Given the description of an element on the screen output the (x, y) to click on. 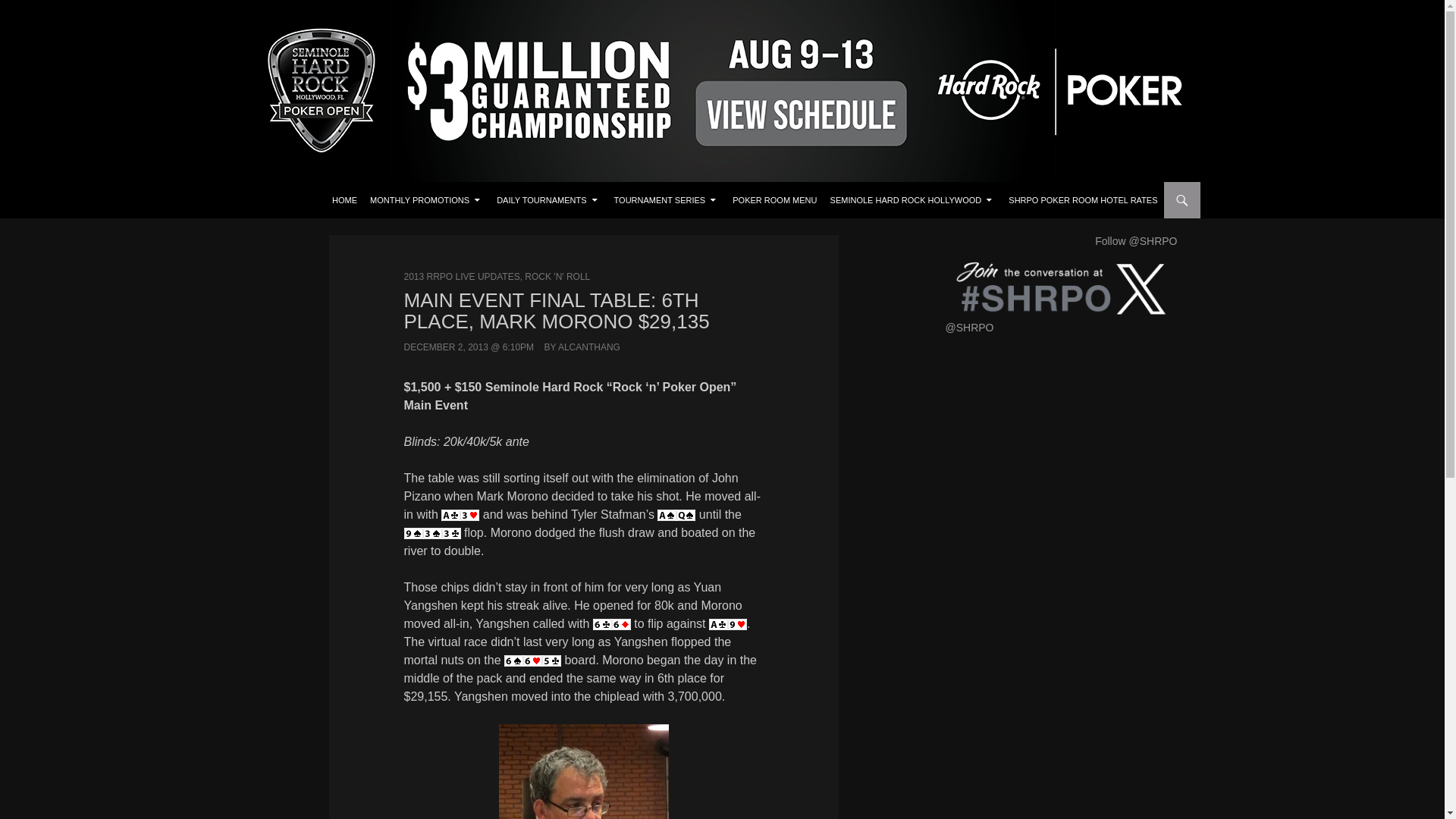
HOME (344, 199)
TOURNAMENT SERIES (666, 199)
POKER ROOM MENU (774, 199)
Seminole Hard Rock Hollywood Poker (389, 199)
SEMINOLE HARD ROCK HOLLYWOOD (913, 199)
SHRPO POKER ROOM HOTEL RATES (1082, 199)
ALCANTHANG (588, 347)
2013 RRPO LIVE UPDATES (461, 276)
DAILY TOURNAMENTS (548, 199)
ROCK 'N' ROLL (556, 276)
MONTHLY PROMOTIONS (427, 199)
